Given the description of an element on the screen output the (x, y) to click on. 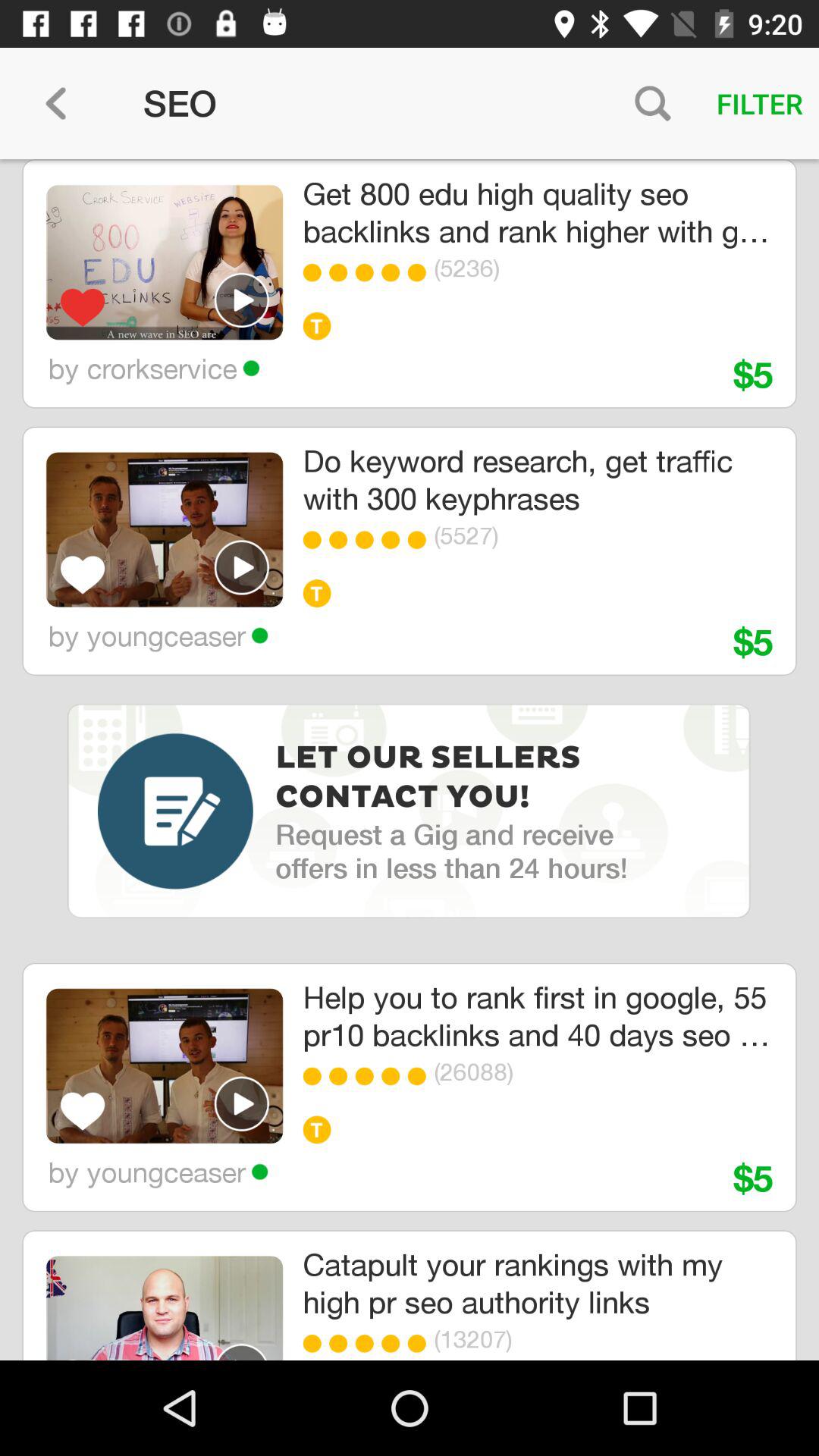
play video (242, 1103)
